Given the description of an element on the screen output the (x, y) to click on. 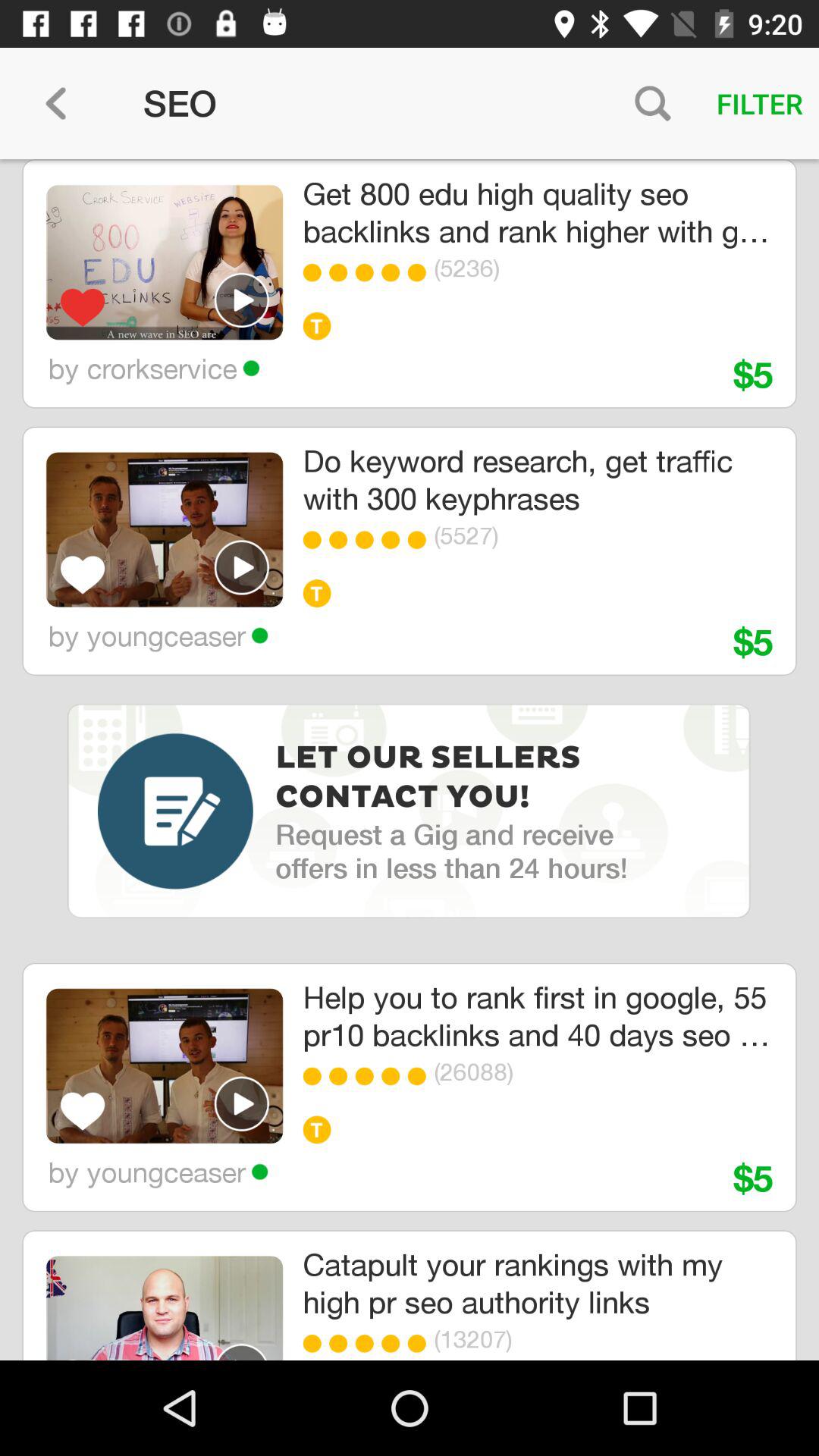
play video (242, 1103)
